Given the description of an element on the screen output the (x, y) to click on. 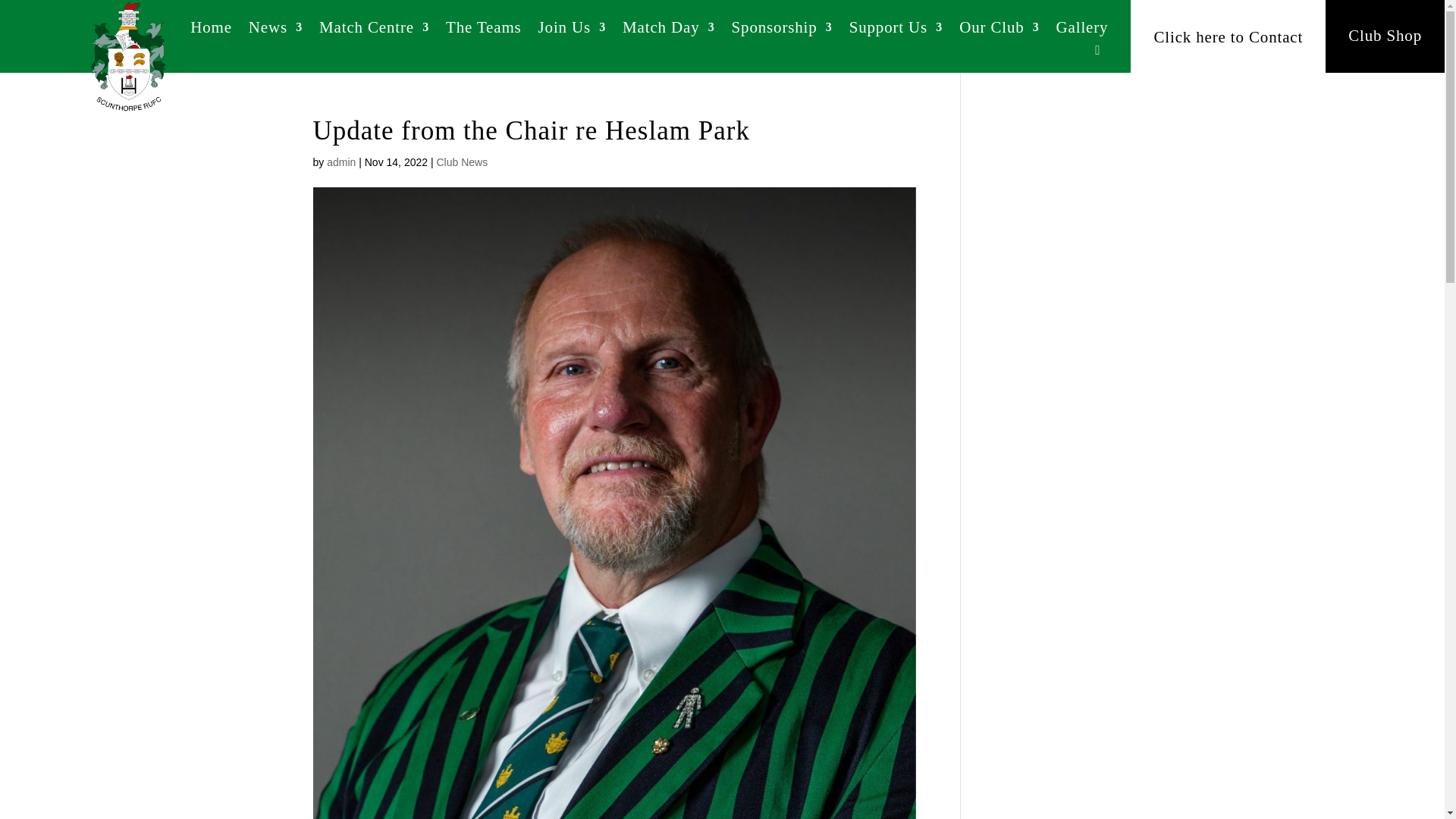
Home (210, 31)
cropped-SRUFC-1.png (128, 56)
Join Us (571, 31)
Sponsorship (782, 31)
Posts by admin (340, 162)
The Teams (483, 31)
Support Us (895, 31)
News (275, 31)
Match Day (668, 31)
Match Centre (373, 31)
